Given the description of an element on the screen output the (x, y) to click on. 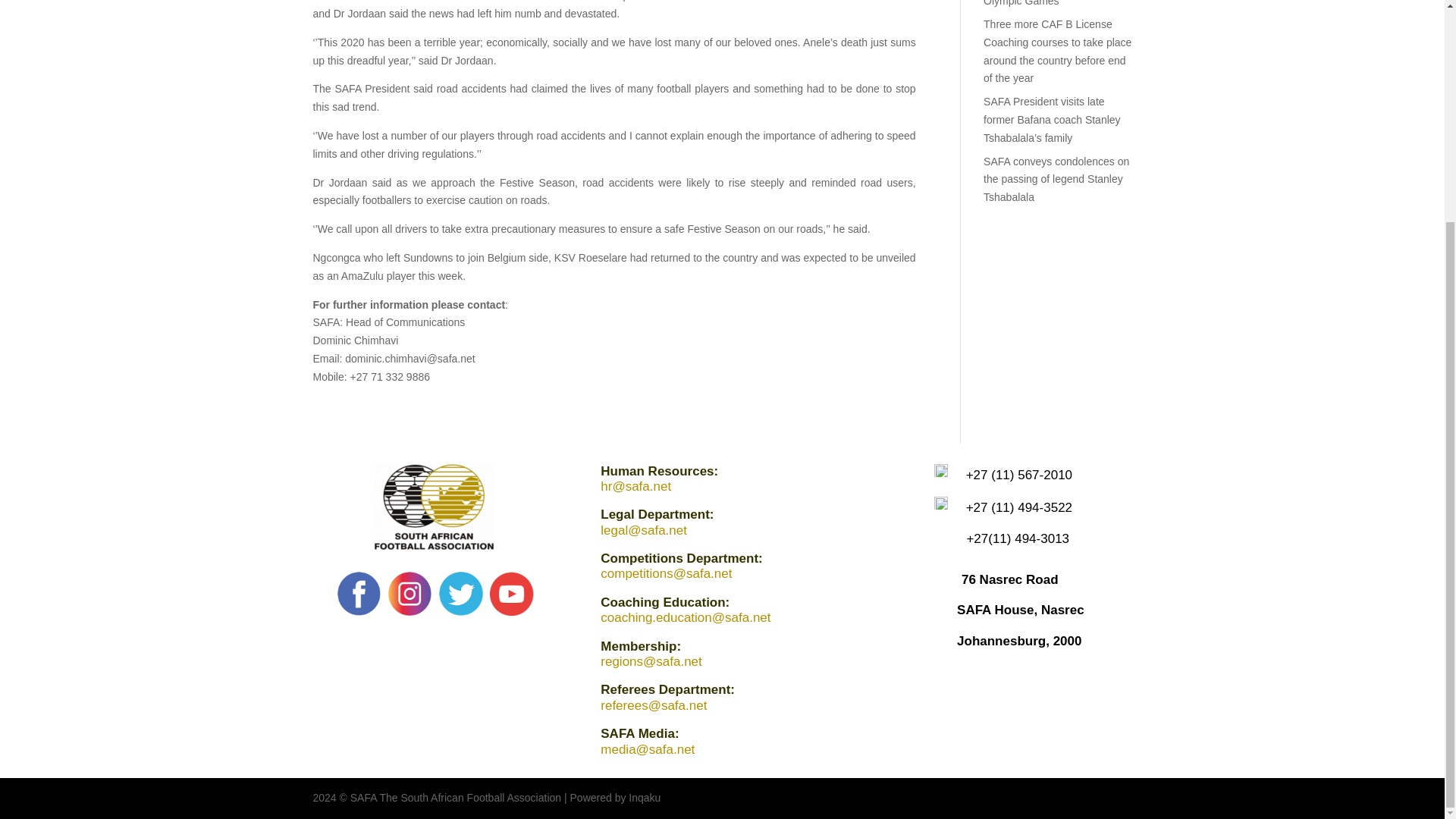
SAFA House, Nasrec (1020, 609)
Johannesburg, 2000 (1018, 640)
76 Nasrec Road (1009, 579)
